Given the description of an element on the screen output the (x, y) to click on. 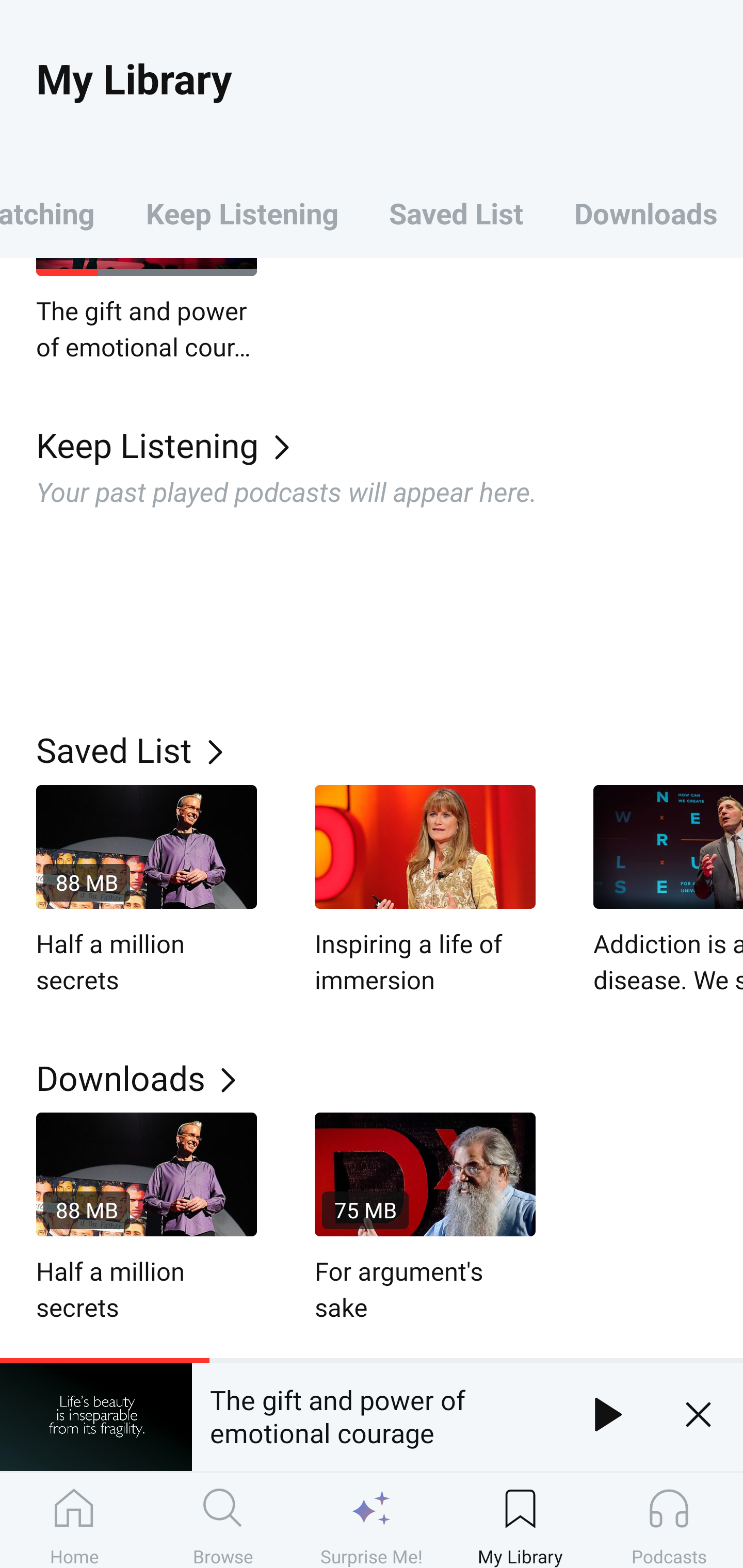
Keep Watching (60, 212)
Keep Listening (242, 212)
Saved List (456, 212)
Downloads (646, 212)
The gift and power of emotional courage (146, 310)
Keep Listening (389, 444)
Saved List (389, 749)
88 MB Half a million secrets (146, 891)
Inspiring a life of immersion (425, 891)
Downloads (389, 1077)
88 MB Half a million secrets (146, 1218)
75 MB For argument's sake (425, 1218)
The gift and power of emotional courage (377, 1413)
Home (74, 1520)
Browse (222, 1520)
Surprise Me! (371, 1520)
My Library (519, 1520)
Podcasts (668, 1520)
